Given the description of an element on the screen output the (x, y) to click on. 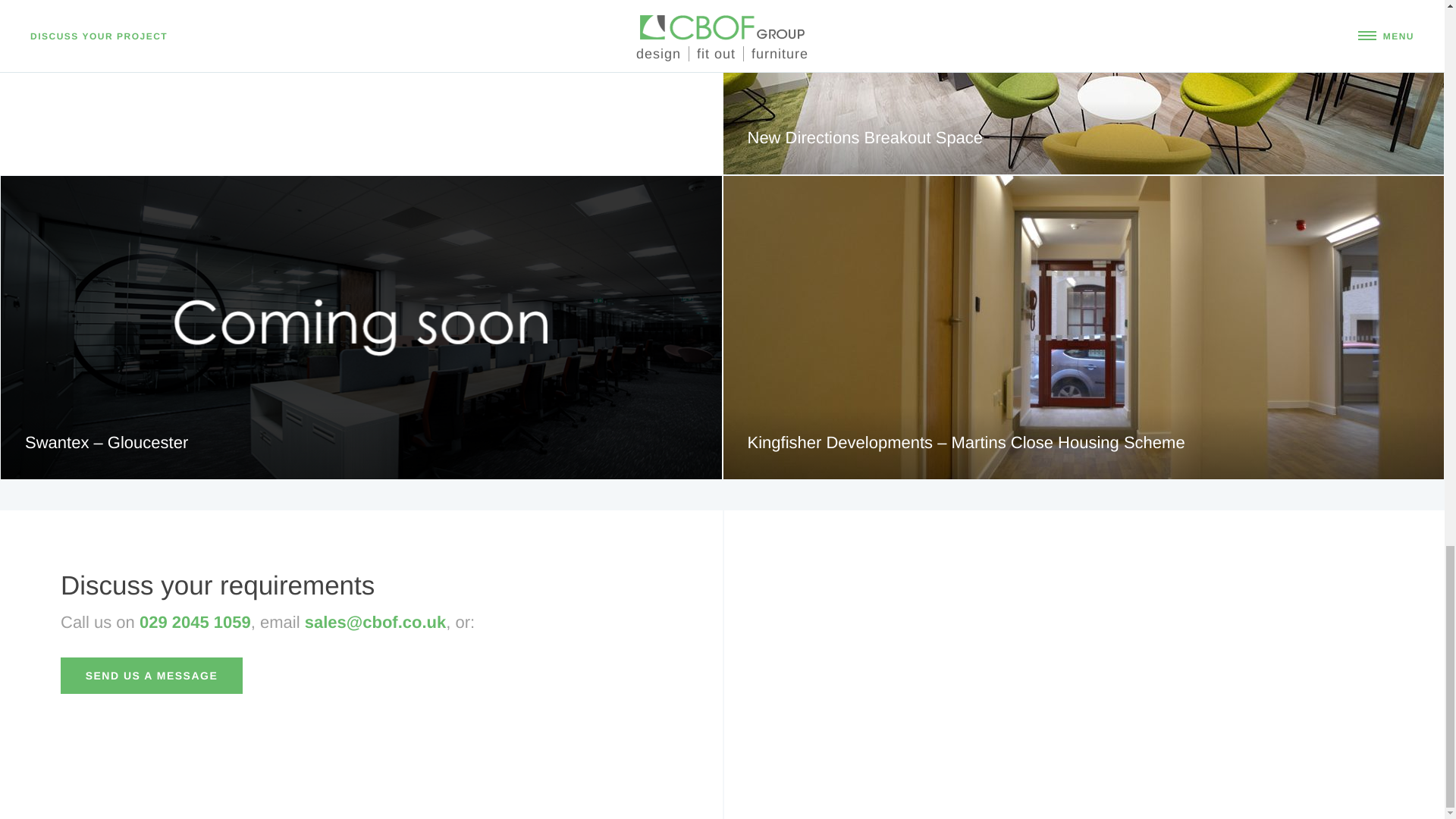
VIEW ALL CASE STUDIES (138, 39)
SEND US A MESSAGE (152, 675)
029 2045 1059 (194, 621)
